Given the description of an element on the screen output the (x, y) to click on. 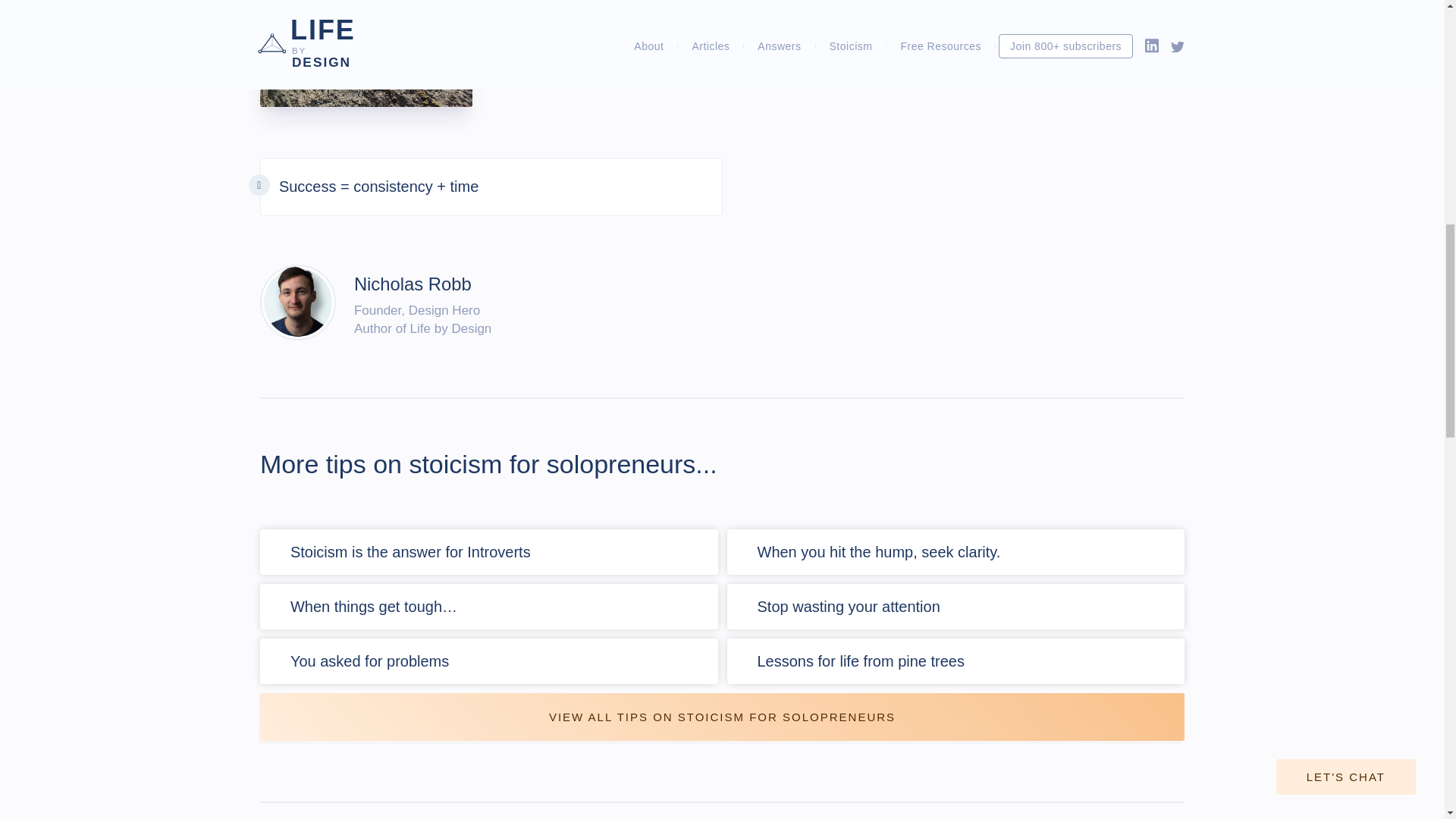
When you hit the hump, seek clarity. (878, 551)
Stop wasting your attention (848, 606)
Stoicism is the answer for Introverts (410, 551)
